Given the description of an element on the screen output the (x, y) to click on. 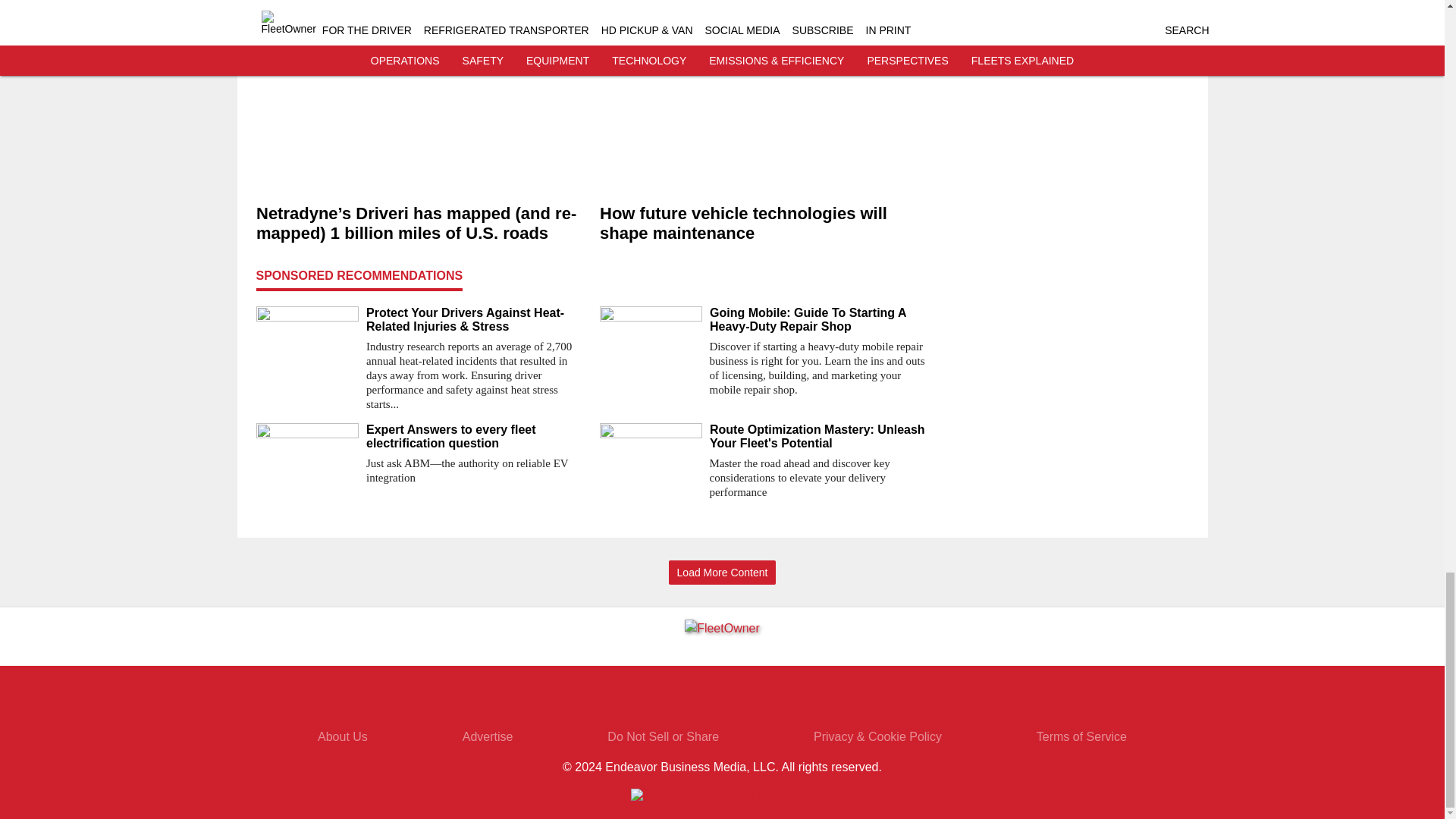
Going Mobile: Guide To Starting A Heavy-Duty Repair Shop (820, 319)
How future vehicle technologies will shape maintenance (764, 223)
Expert Answers to every fleet electrification question (476, 436)
Route Optimization Mastery: Unleash Your Fleet's Potential (820, 436)
